Given the description of an element on the screen output the (x, y) to click on. 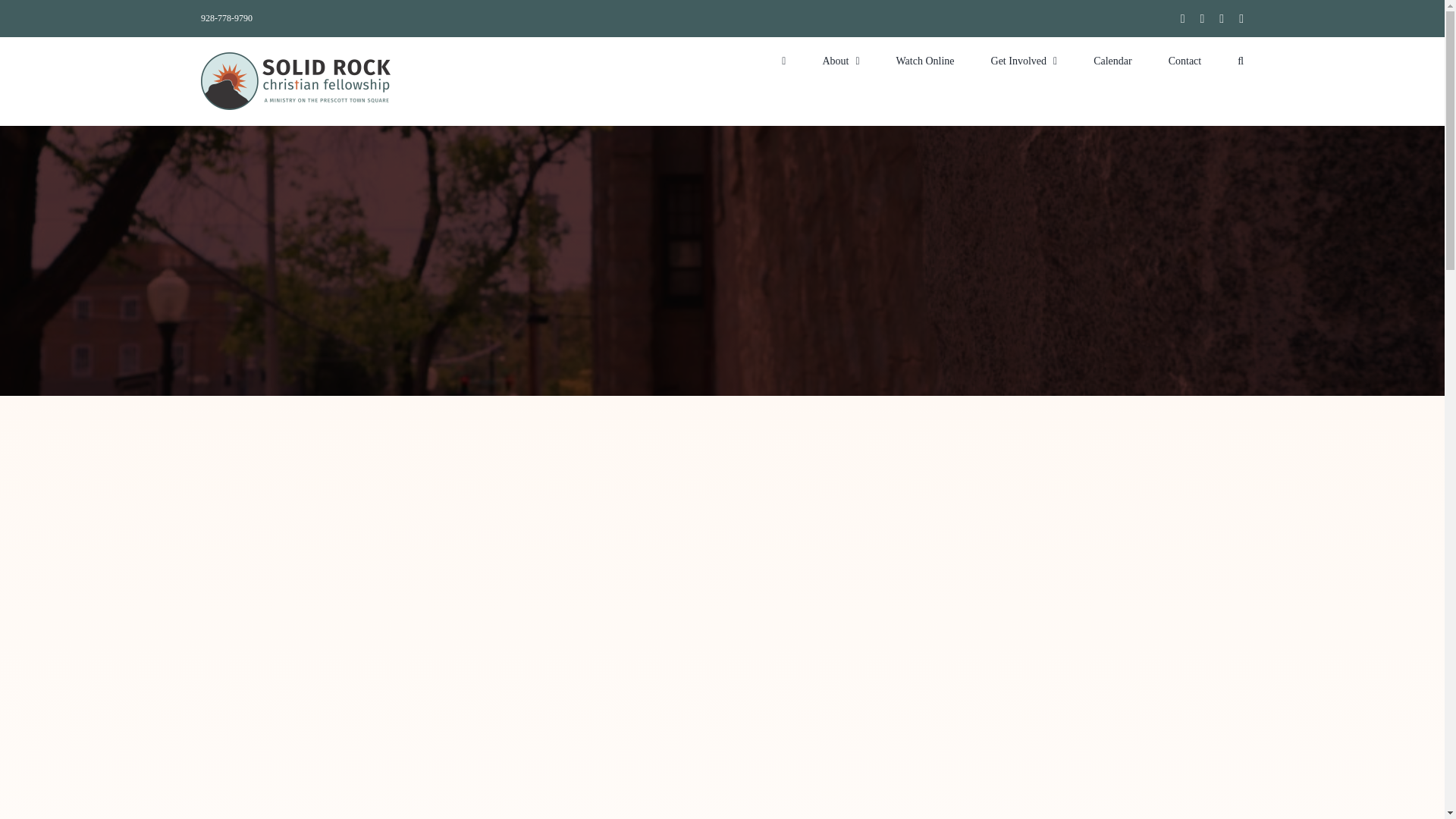
Get Involved (1024, 59)
Watch Online (925, 59)
